Given the description of an element on the screen output the (x, y) to click on. 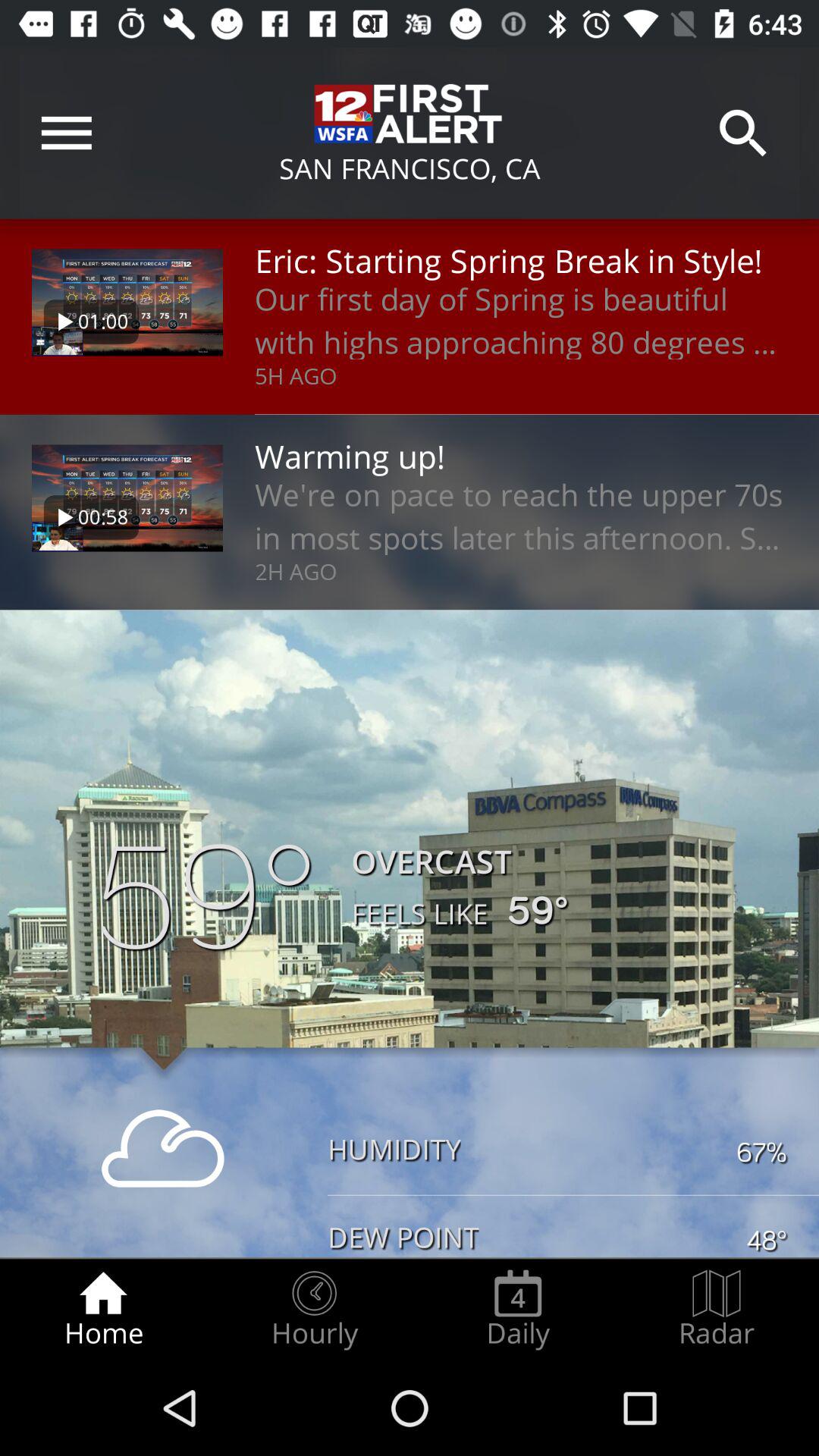
flip until daily item (518, 1309)
